Given the description of an element on the screen output the (x, y) to click on. 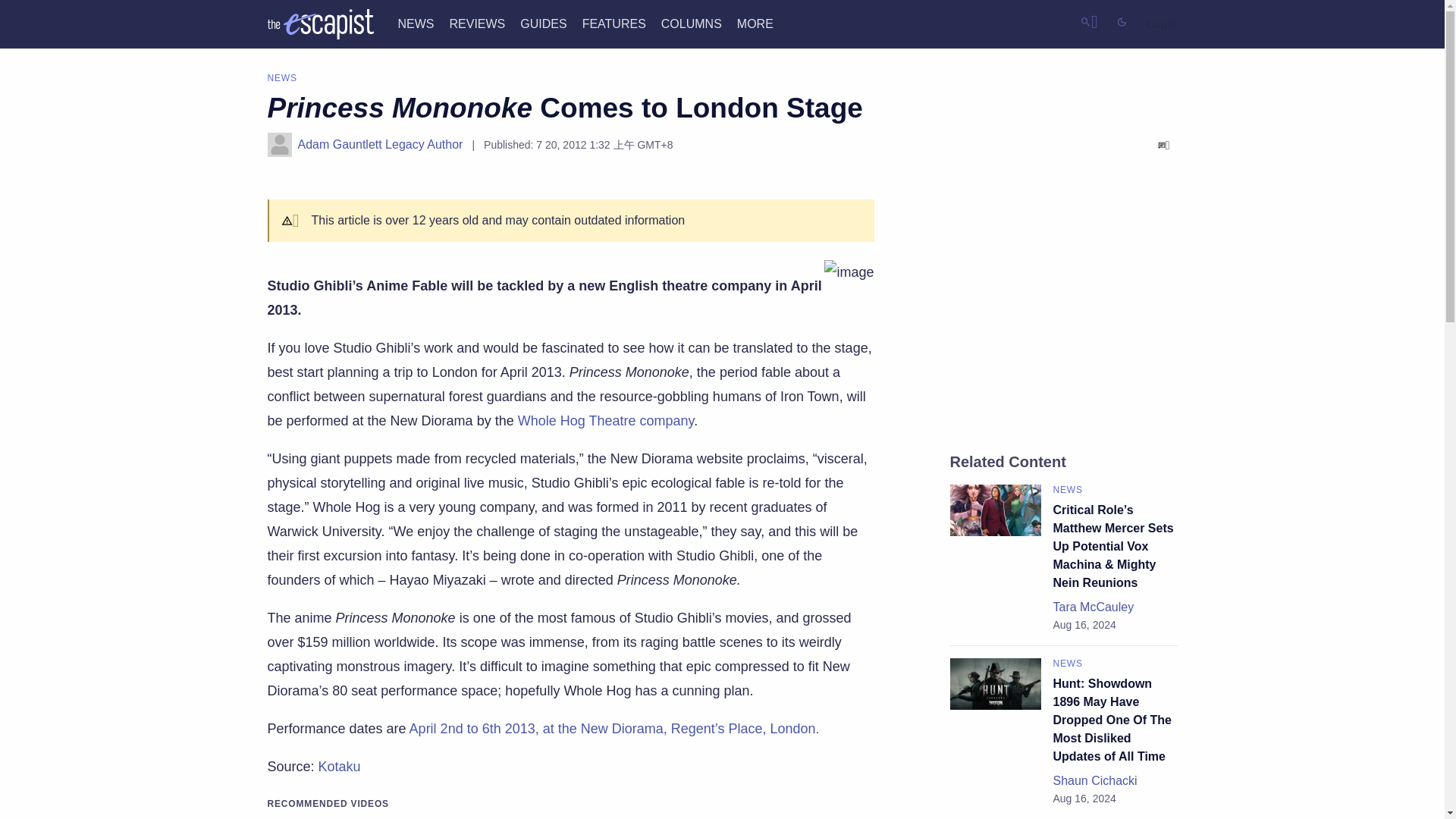
COLUMNS (691, 23)
NEWS (415, 23)
FEATURES (614, 23)
Dark Mode (1124, 21)
Search (1088, 21)
REVIEWS (476, 23)
Login (1162, 23)
GUIDES (542, 23)
